Given the description of an element on the screen output the (x, y) to click on. 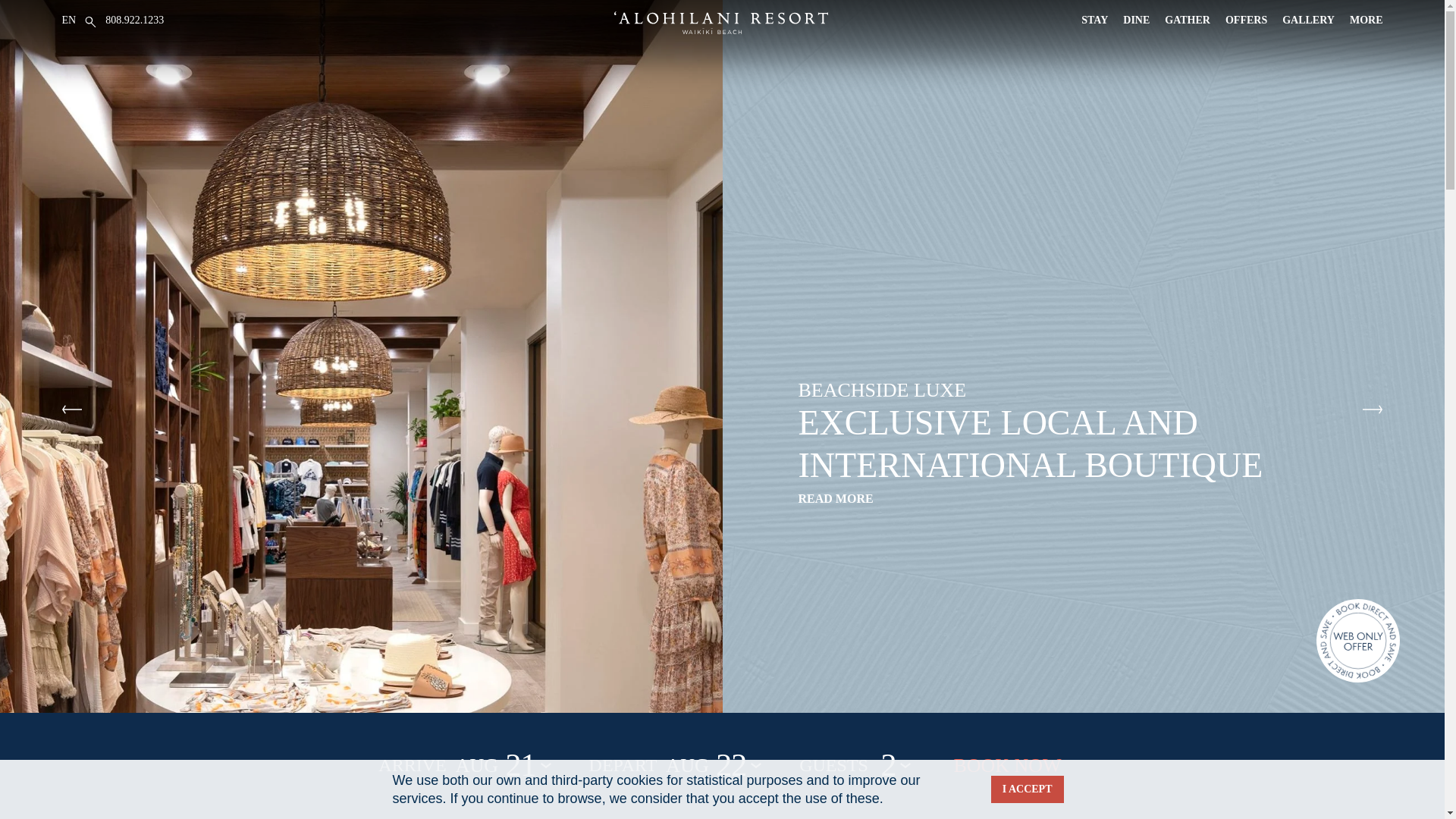
Search (687, 155)
I ACCEPT (1027, 789)
EN (69, 20)
STAY (1094, 20)
808.922.1233 (134, 20)
HOME PAGE (720, 22)
DINE (1136, 20)
